Given the description of an element on the screen output the (x, y) to click on. 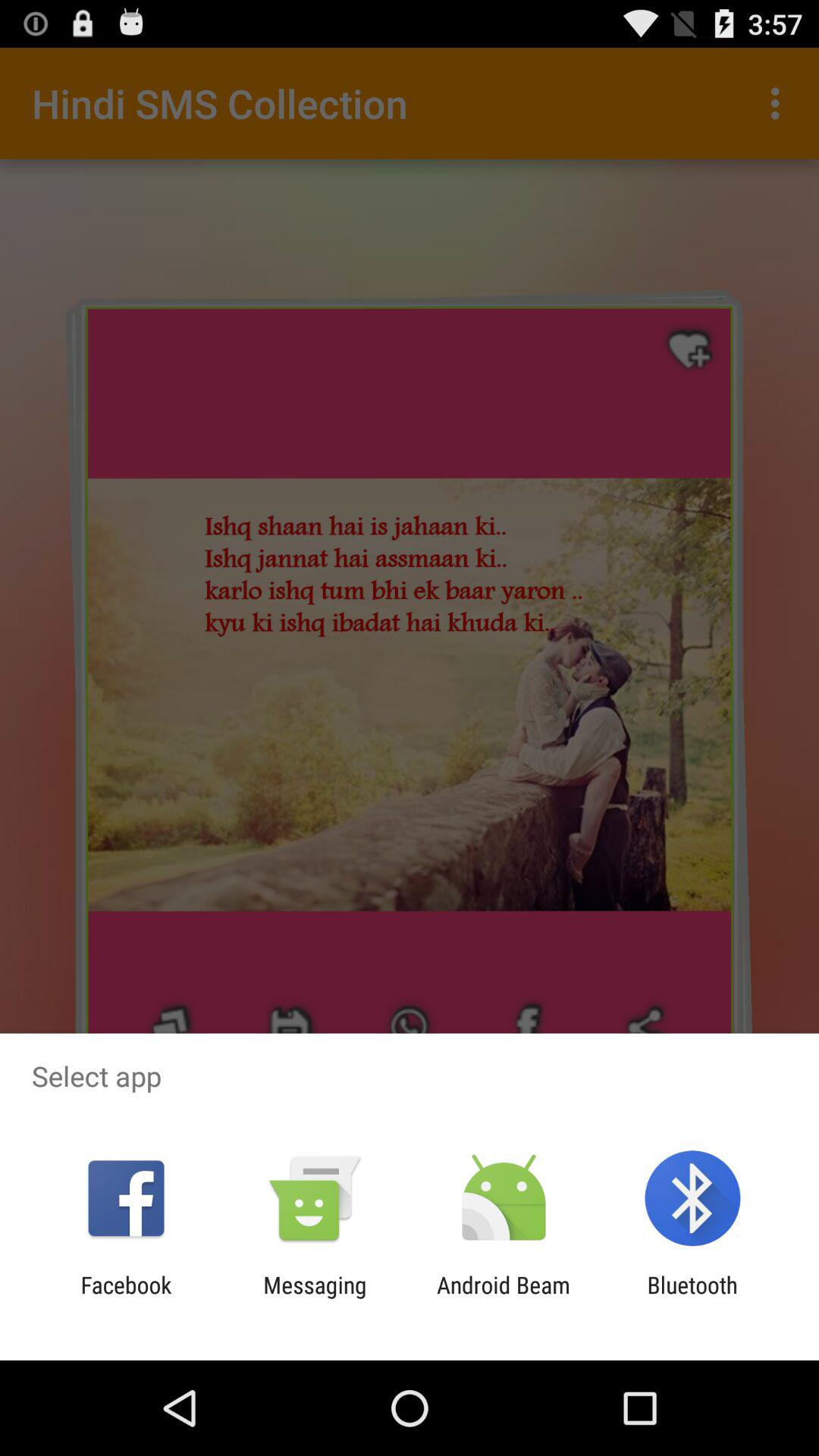
press the app to the right of the android beam icon (692, 1298)
